Given the description of an element on the screen output the (x, y) to click on. 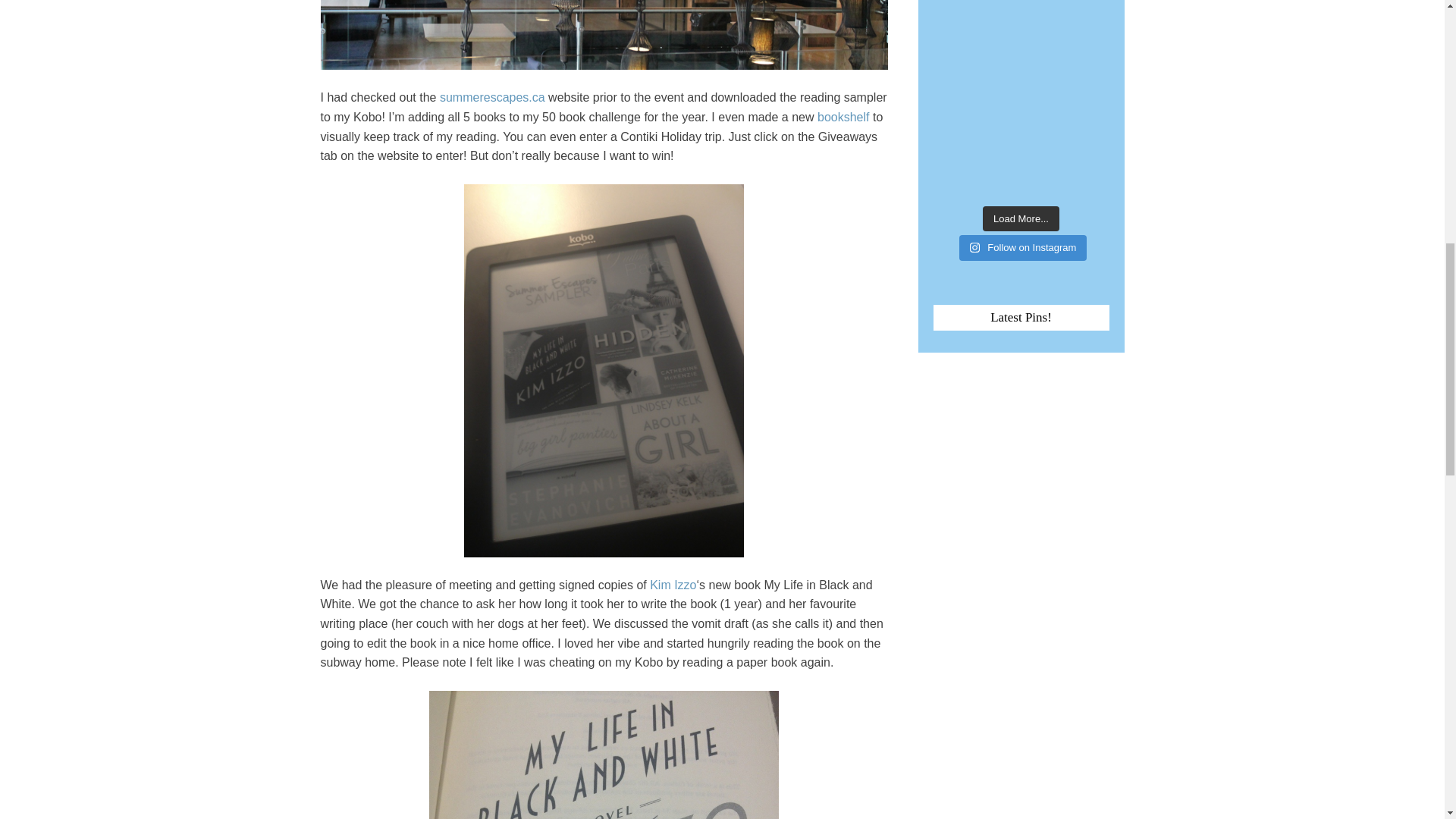
Kim Izzo (672, 584)
Summer Escapes (491, 97)
Book Shelf (842, 116)
